Given the description of an element on the screen output the (x, y) to click on. 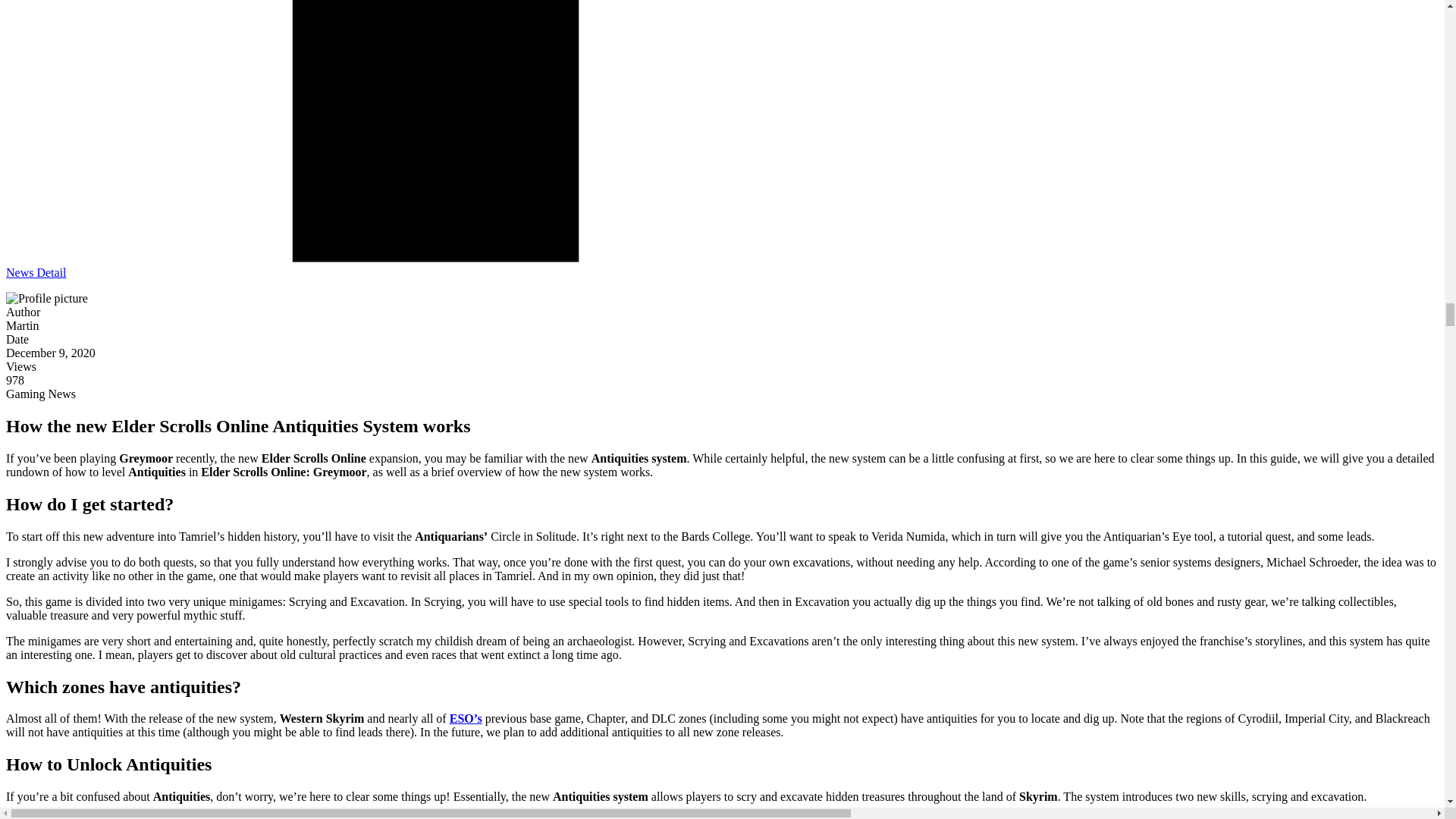
News Detail (35, 272)
Buy ESO Gold (465, 717)
